Given the description of an element on the screen output the (x, y) to click on. 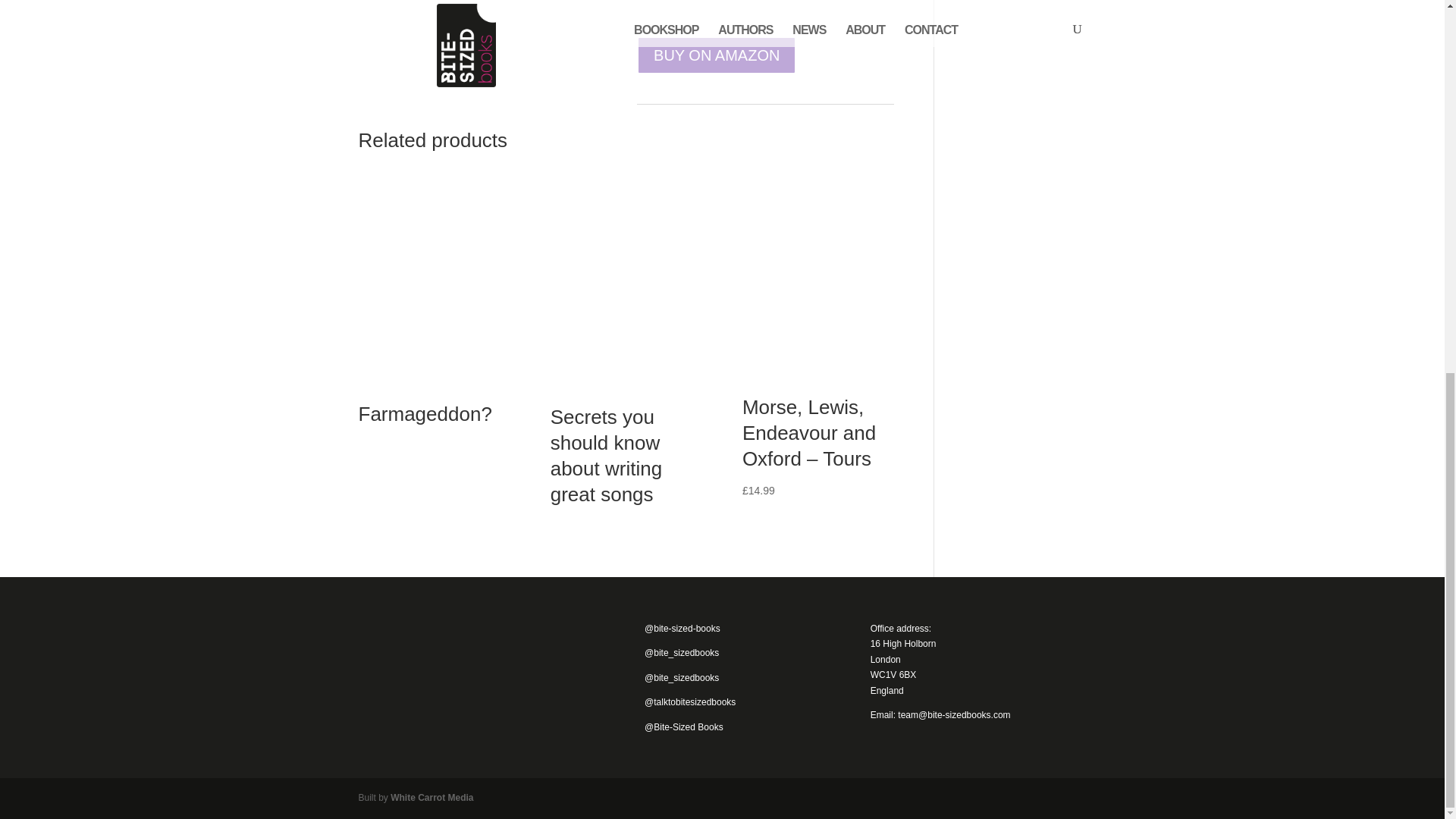
BUY ON AMAZON (716, 55)
